Given the description of an element on the screen output the (x, y) to click on. 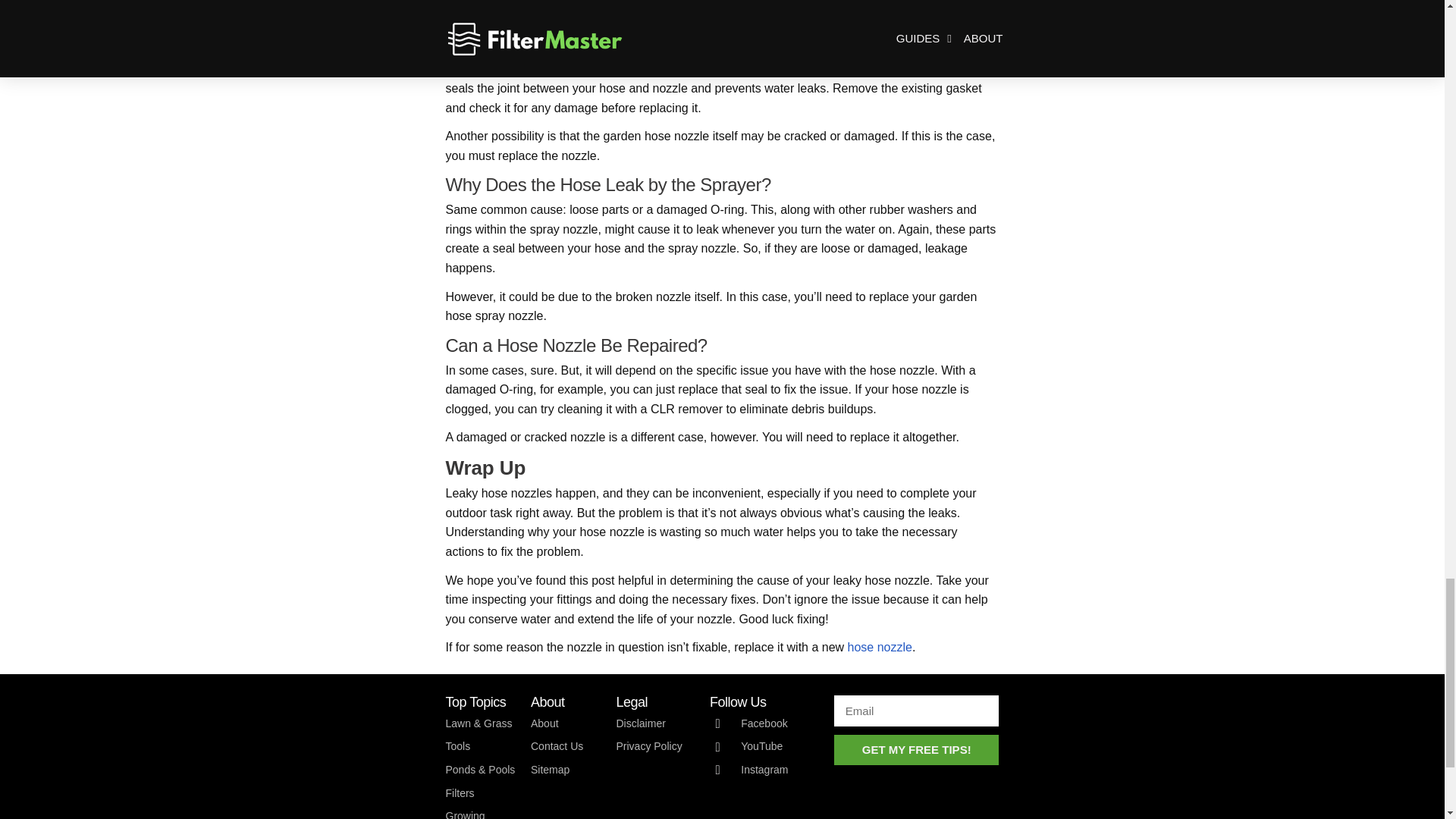
hose nozzle (879, 646)
Contact Us (566, 746)
Filters (480, 793)
Growing (480, 812)
About (566, 723)
Tools (480, 746)
